Given the description of an element on the screen output the (x, y) to click on. 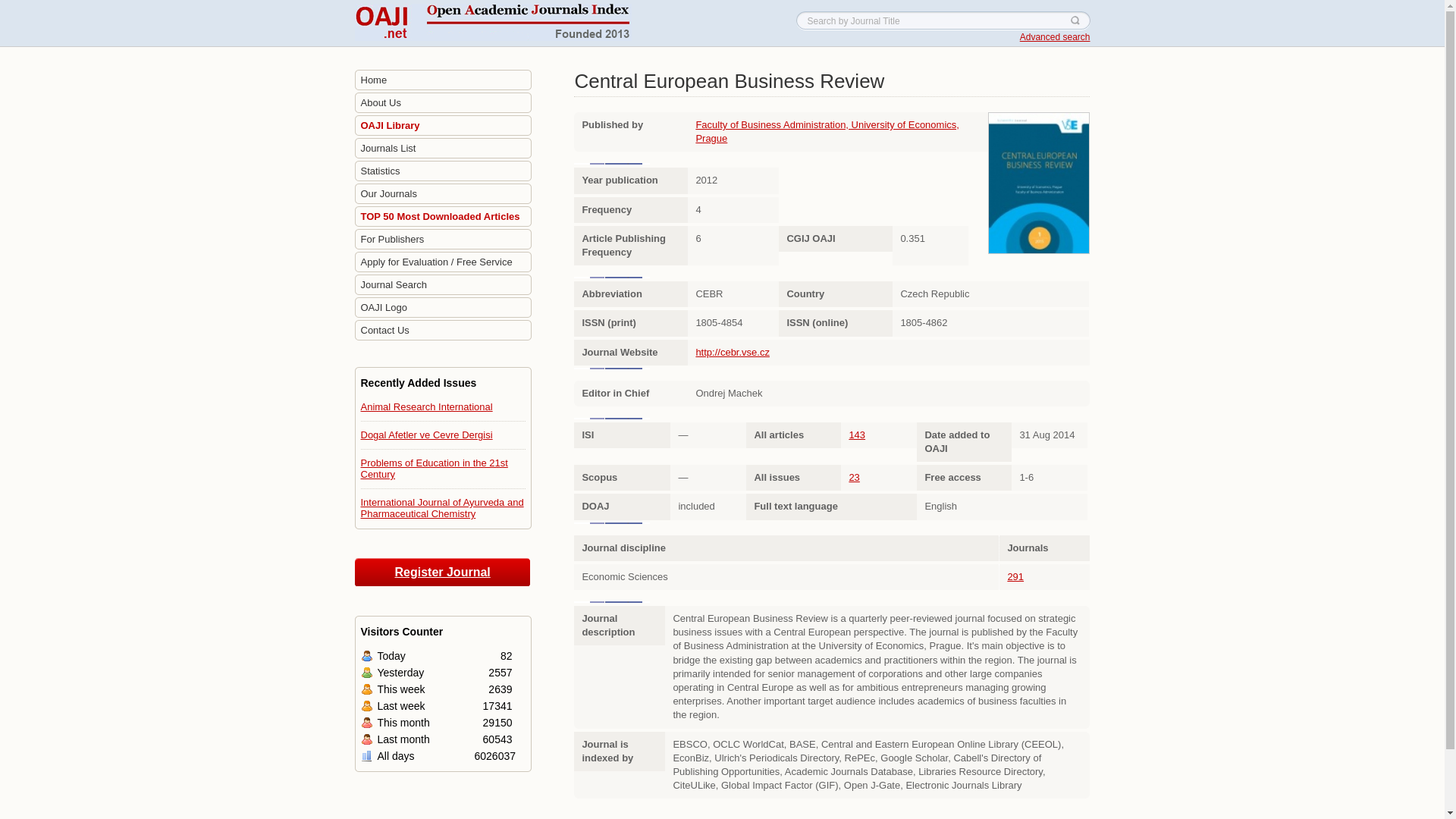
Home (443, 80)
Our Journals (443, 194)
Animal Research International (427, 406)
About Us (443, 103)
143 (856, 434)
Advanced search (1055, 36)
Journal Search (443, 285)
Search by Journal Title (943, 20)
TOP 50 Most Downloaded Articles (443, 217)
